Given the description of an element on the screen output the (x, y) to click on. 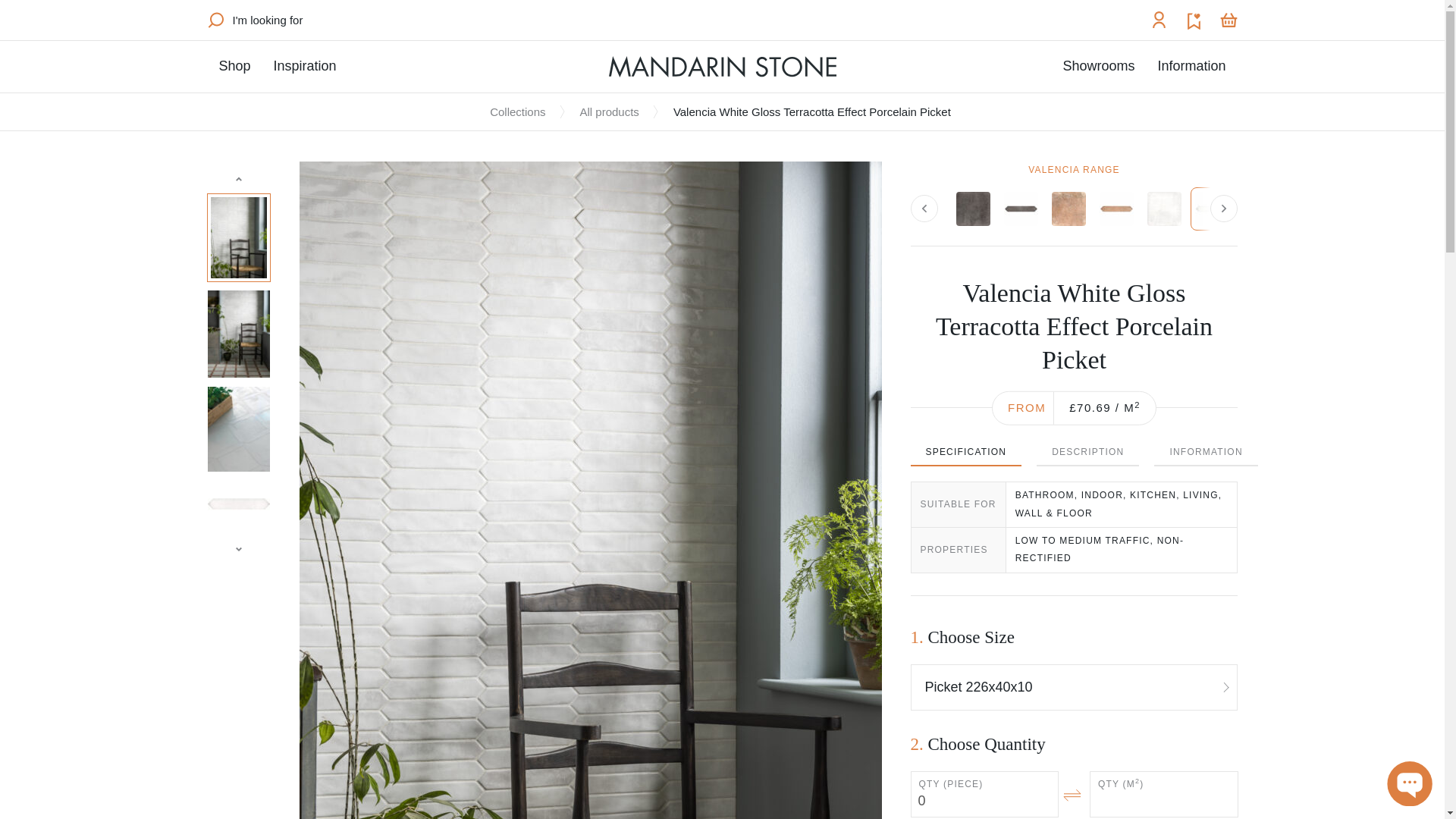
Inspiration (304, 66)
Showrooms (1098, 66)
Information (1191, 66)
Showrooms (1098, 66)
My Account (1159, 19)
0 (984, 794)
I'm looking for (254, 19)
Shop (234, 66)
Information (1191, 66)
Home (721, 66)
